Given the description of an element on the screen output the (x, y) to click on. 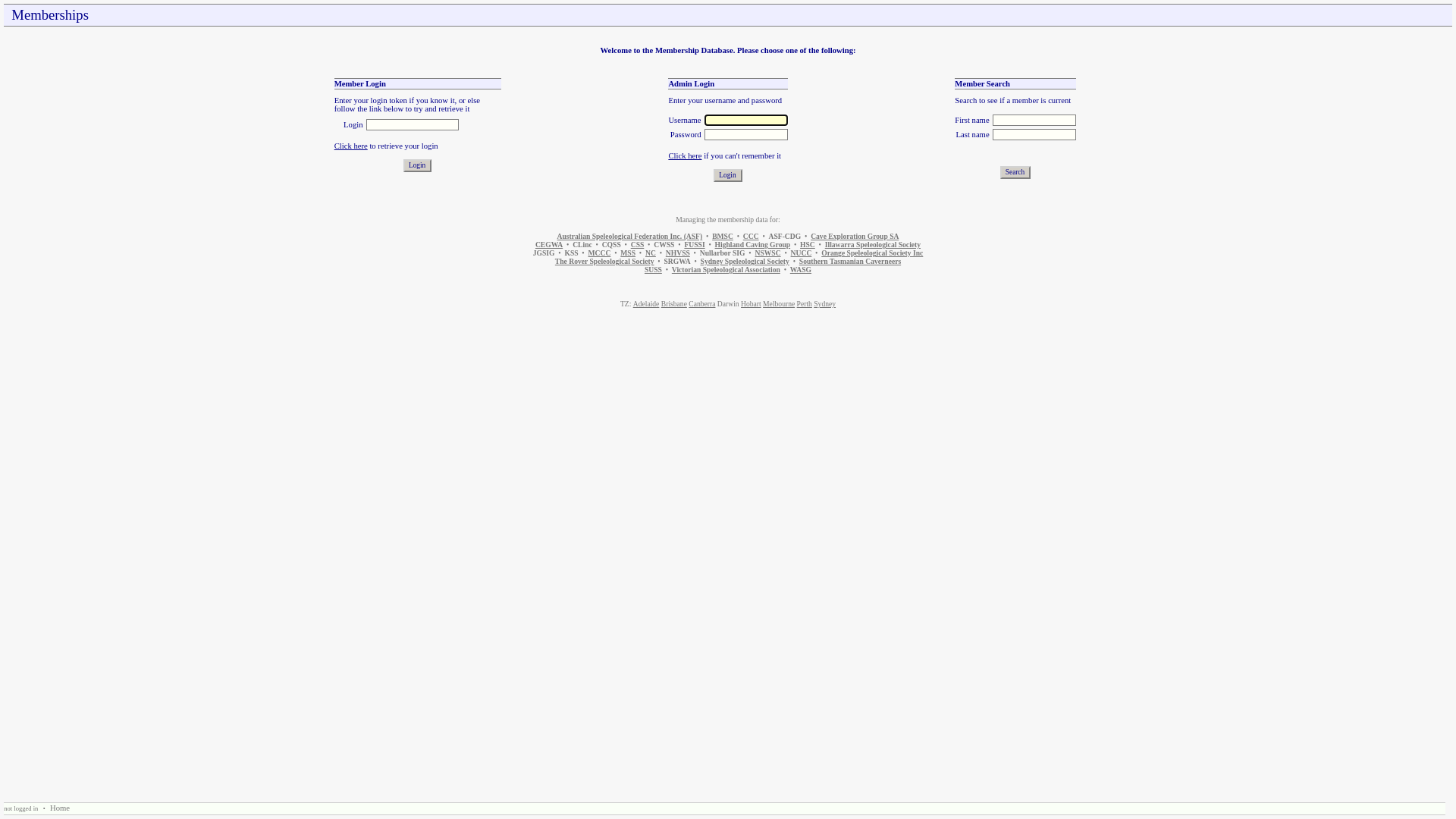
Orange Speleological Society Inc Element type: text (871, 252)
MCCC Element type: text (599, 252)
Canberra Element type: text (701, 303)
BMSC Element type: text (722, 236)
CCC Element type: text (751, 236)
NSWSC Element type: text (768, 252)
Home Element type: text (59, 807)
Illawarra Speleological Society Element type: text (872, 244)
CEGWA Element type: text (548, 244)
Login Element type: text (417, 165)
Adelaide Element type: text (646, 303)
Southern Tasmanian Caverneers Element type: text (849, 261)
Sydney Speleological Society Element type: text (744, 261)
Login Element type: text (727, 175)
Highland Caving Group Element type: text (752, 244)
Cave Exploration Group SA Element type: text (854, 236)
Brisbane Element type: text (674, 303)
Sydney Element type: text (824, 303)
Perth Element type: text (804, 303)
Victorian Speleological Association Element type: text (725, 269)
MSS Element type: text (627, 252)
NC Element type: text (650, 252)
CSS Element type: text (637, 244)
Search Element type: text (1015, 172)
WASG Element type: text (800, 269)
NHVSS Element type: text (677, 252)
The Rover Speleological Society Element type: text (604, 261)
Melbourne Element type: text (778, 303)
Hobart Element type: text (750, 303)
FUSSI Element type: text (694, 244)
Click here Element type: text (350, 145)
SUSS Element type: text (653, 269)
HSC Element type: text (807, 244)
NUCC Element type: text (801, 252)
Click here Element type: text (684, 155)
Australian Speleological Federation Inc. (ASF) Element type: text (629, 236)
